Given the description of an element on the screen output the (x, y) to click on. 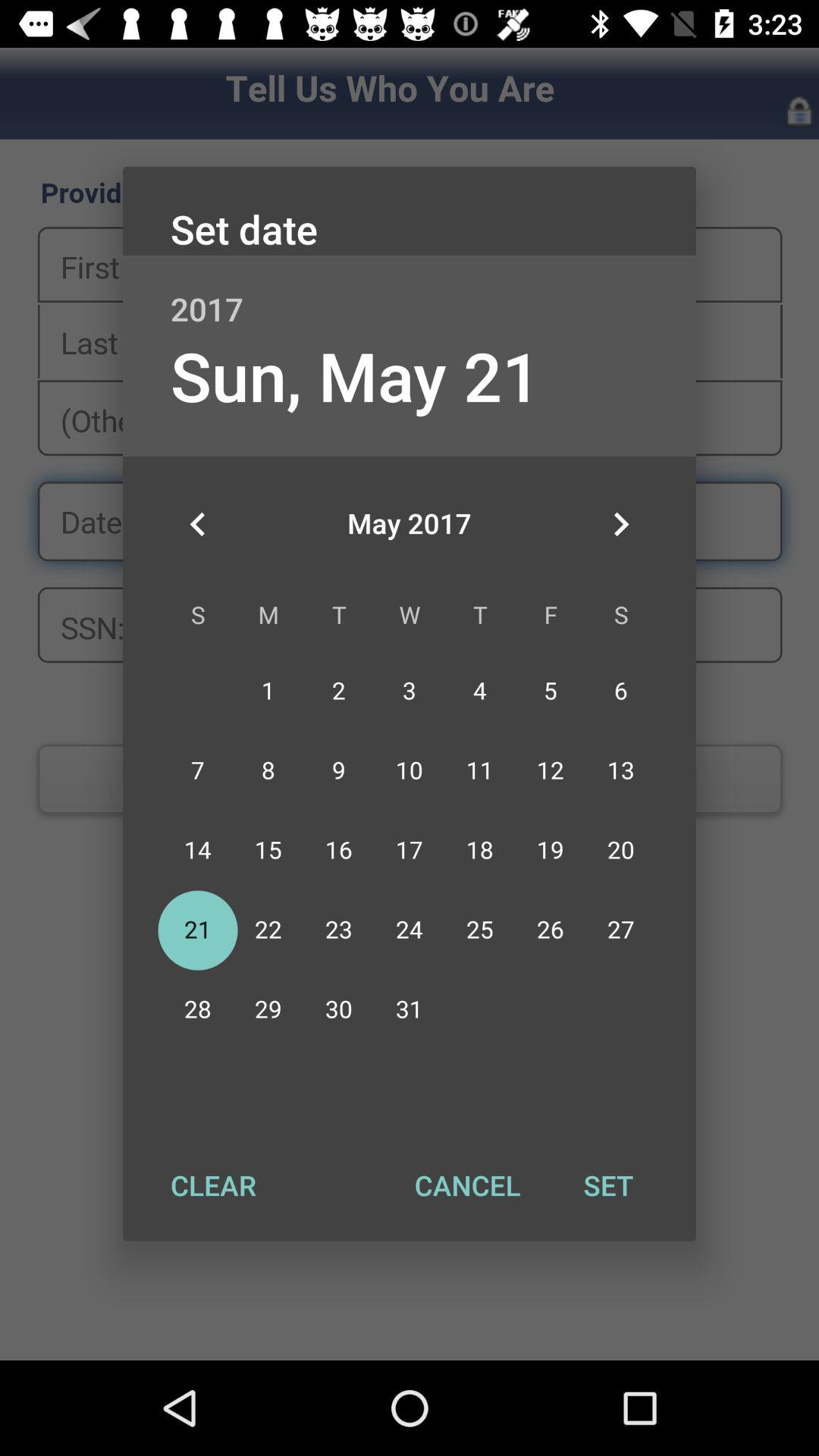
choose the item on the right (620, 524)
